Given the description of an element on the screen output the (x, y) to click on. 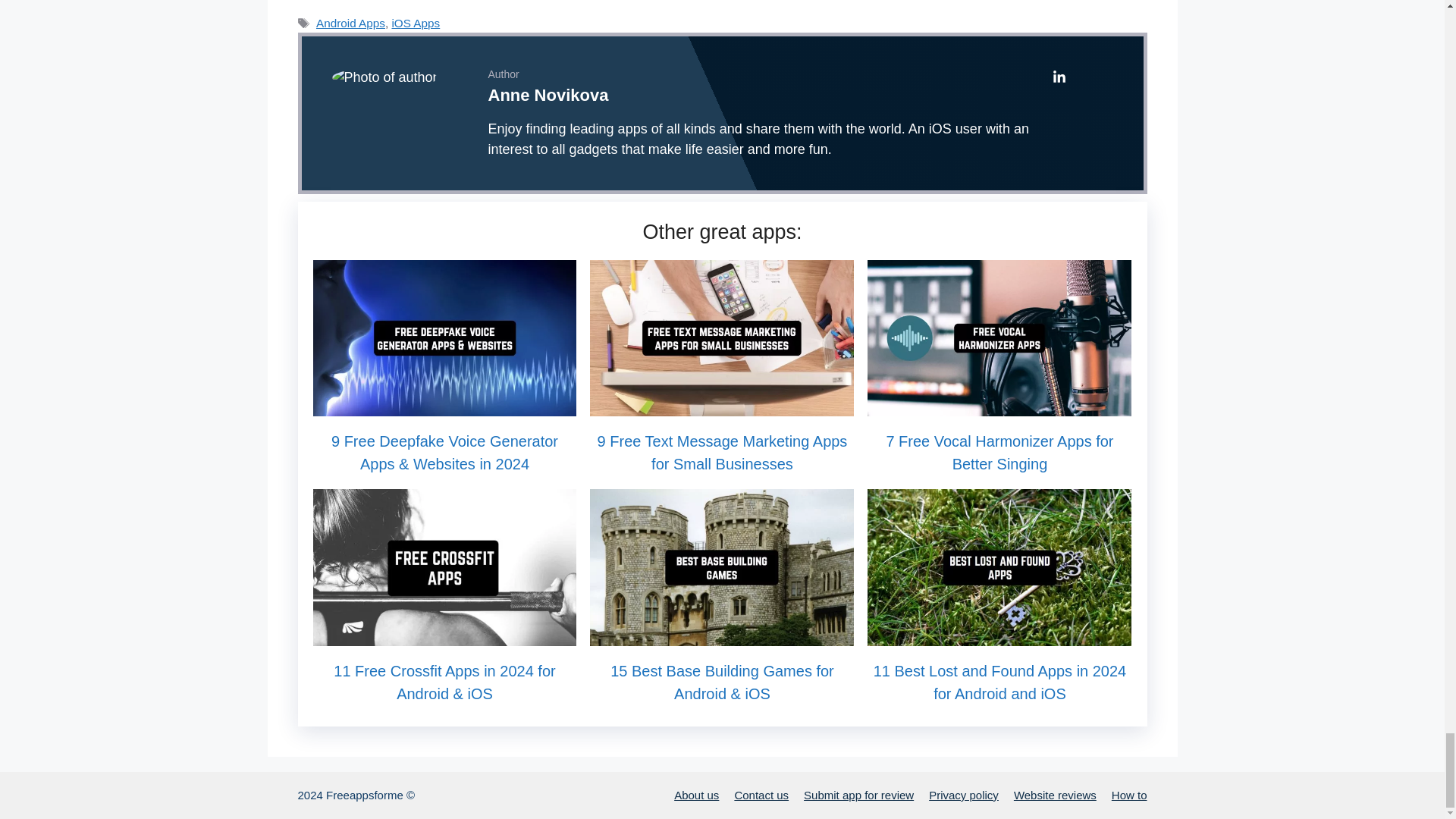
7 Free Vocal Harmonizer Apps for Better Singing (999, 405)
11 Best Lost and Found Apps in 2024 for Android and iOS (999, 635)
Android Apps (350, 22)
9 Free Text Message Marketing Apps for Small Businesses (721, 405)
